Given the description of an element on the screen output the (x, y) to click on. 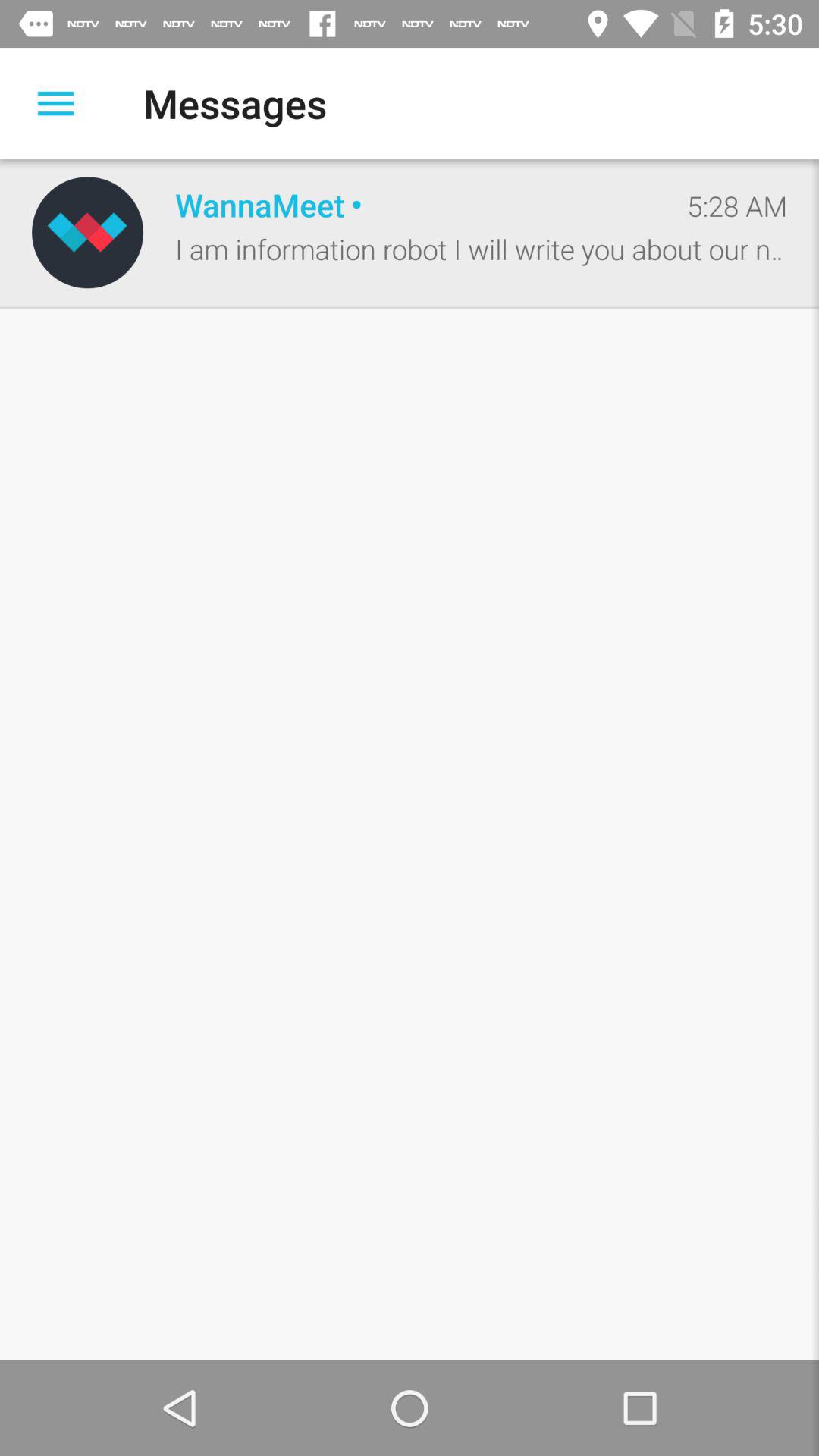
tap item above the i am information (415, 204)
